Given the description of an element on the screen output the (x, y) to click on. 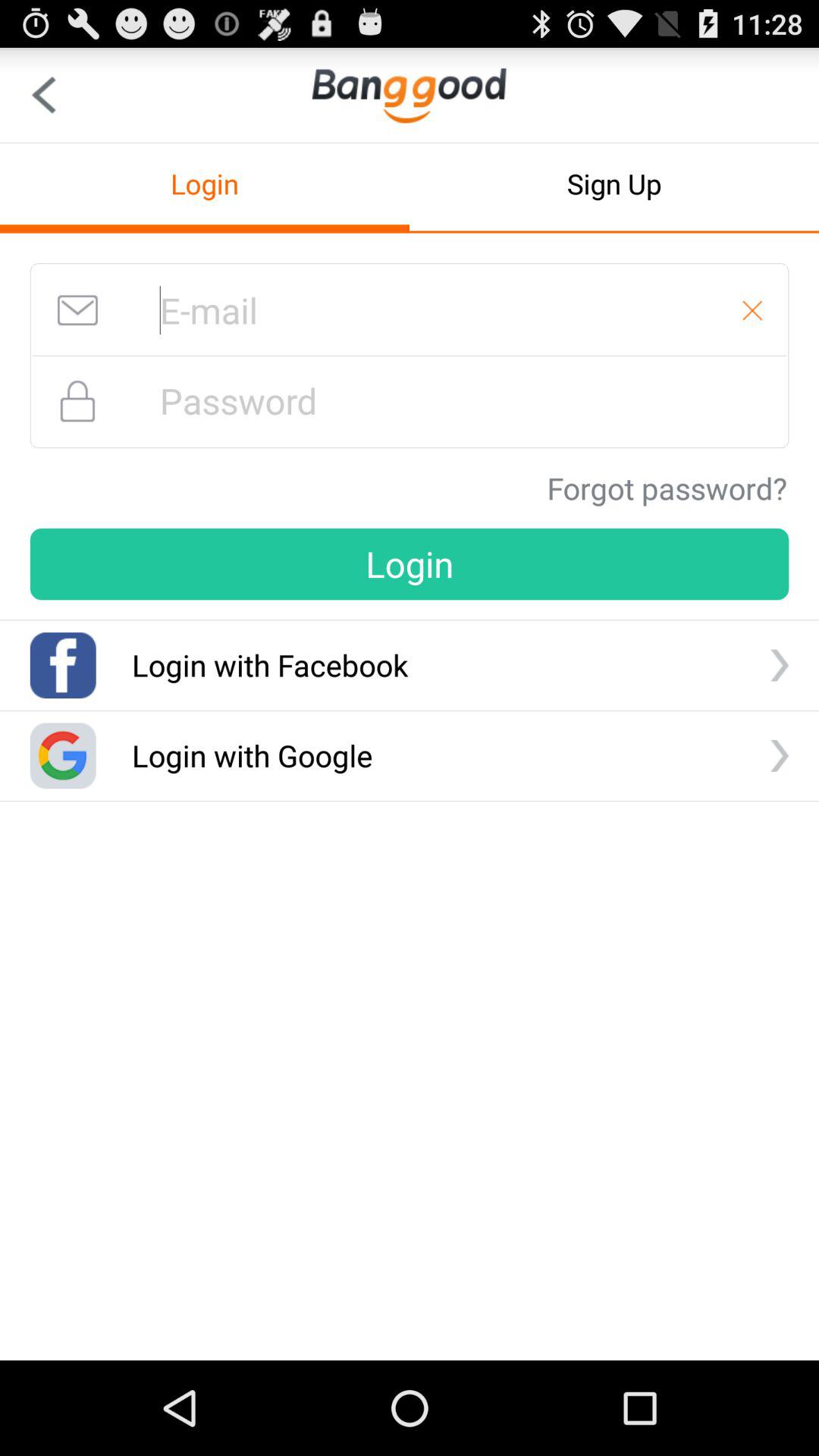
login with email address (409, 310)
